Given the description of an element on the screen output the (x, y) to click on. 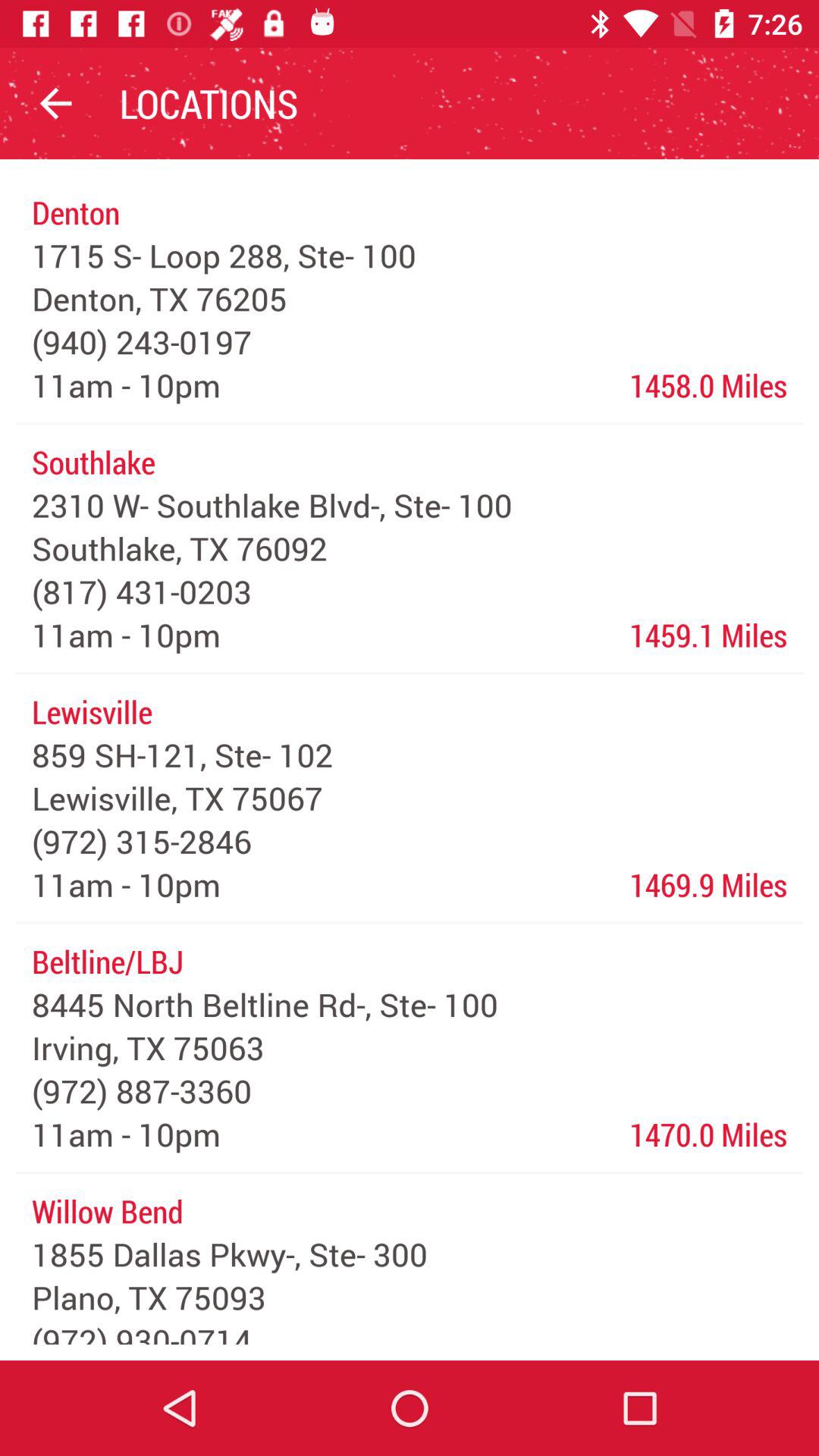
select item to the left of locations (55, 103)
